Given the description of an element on the screen output the (x, y) to click on. 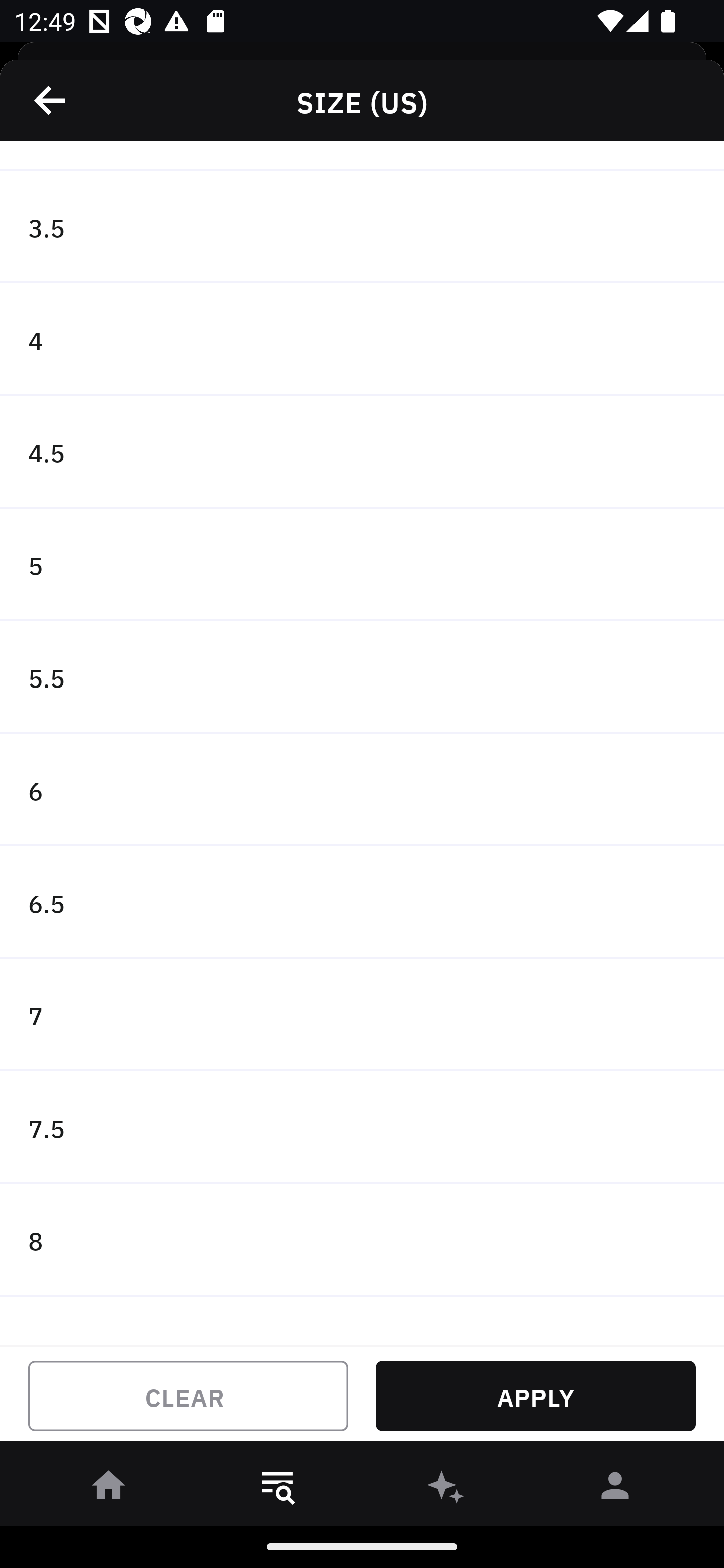
 (50, 100)
3.5 (362, 226)
4 (362, 339)
4.5 (362, 452)
5 (362, 564)
5.5 (362, 676)
6 (362, 789)
6.5 (362, 902)
7 (362, 1014)
7.5 (362, 1126)
8 (362, 1239)
CLEAR  (188, 1396)
APPLY (535, 1396)
󰋜 (108, 1488)
󱎸 (277, 1488)
󰫢 (446, 1488)
󰀄 (615, 1488)
